Given the description of an element on the screen output the (x, y) to click on. 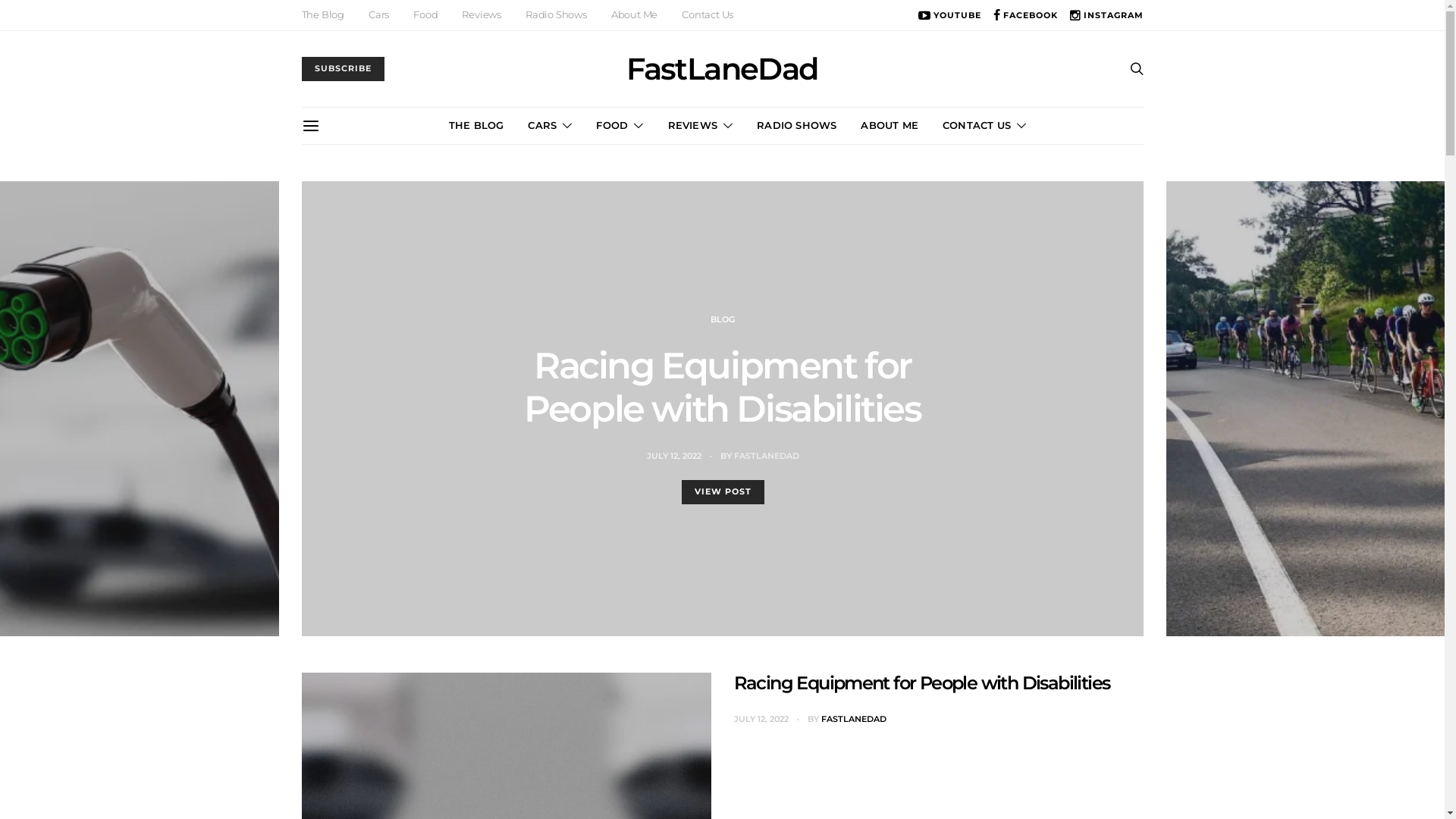
REVIEWS Element type: text (699, 125)
CONTACT US Element type: text (984, 125)
FastLaneDad Element type: text (721, 68)
SUBSCRIBE Element type: text (342, 68)
FACEBOOK Element type: text (1025, 15)
ABOUT ME Element type: text (889, 125)
INSTAGRAM Element type: text (1106, 15)
HYBRID ELECTRIC VEHICLES Element type: text (782, 341)
Cars Element type: text (378, 14)
FASTLANEDAD Element type: text (852, 718)
THE BLOG Element type: text (476, 125)
BLOG Element type: text (697, 341)
Food Element type: text (425, 14)
Reviews Element type: text (481, 14)
FAST LANE CARS Element type: text (637, 341)
FOOD Element type: text (619, 125)
VIEW POST Element type: text (721, 470)
RADIO SHOWS Element type: text (796, 125)
FASTLANEDAD Element type: text (773, 433)
YOUTUBE Element type: text (949, 15)
Contact Us Element type: text (707, 14)
About Me Element type: text (634, 14)
Radio Shows Element type: text (555, 14)
The Blog Element type: text (322, 14)
CARS Element type: text (549, 125)
